Given the description of an element on the screen output the (x, y) to click on. 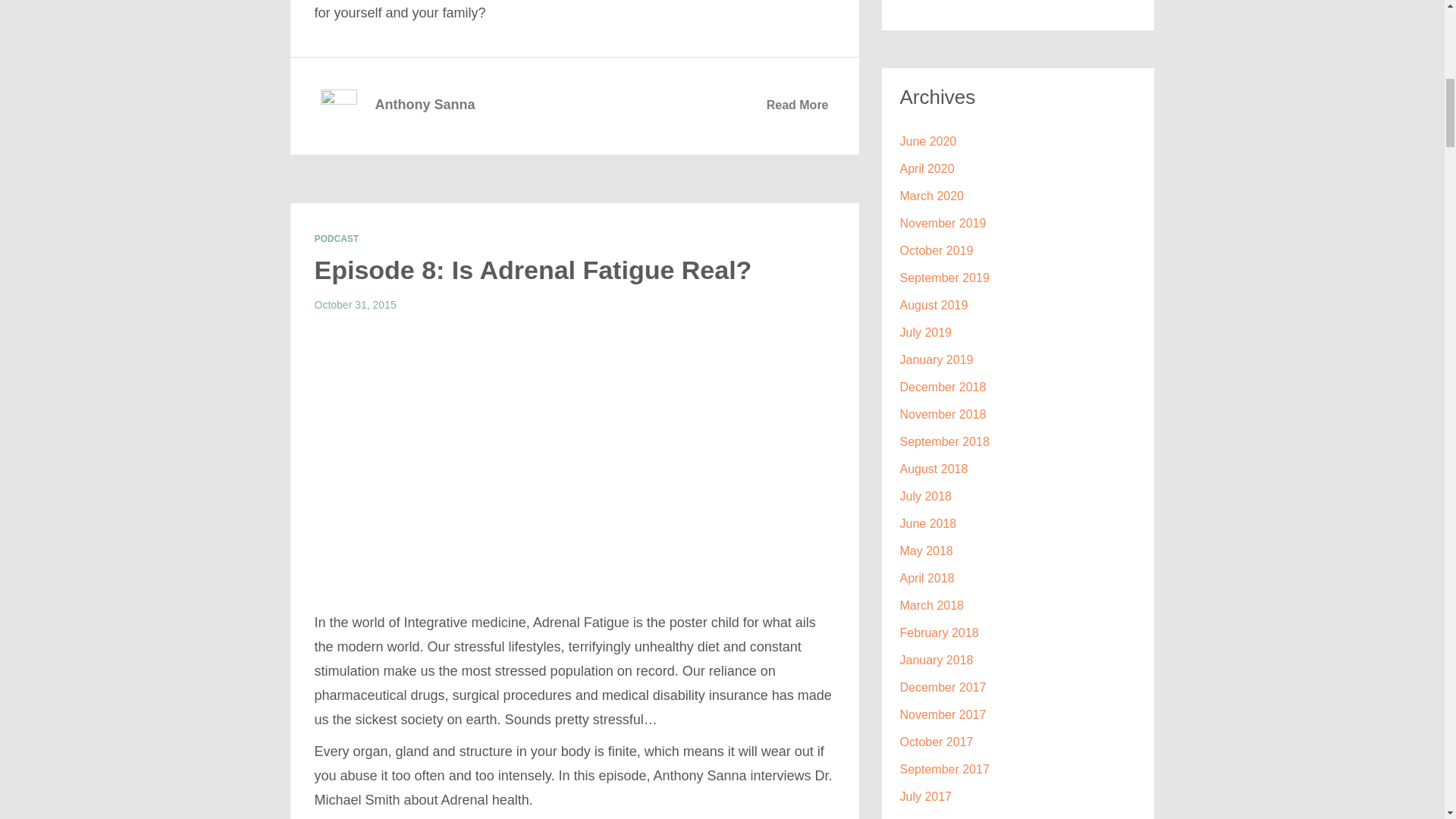
Anthony Sanna (424, 99)
Read More (797, 104)
Episode 8: Is Adrenal Fatigue Real? (532, 269)
Permalink to Episode 8: Is Adrenal Fatigue Real? (532, 269)
October 31, 2015 (355, 304)
PODCAST (336, 238)
